Given the description of an element on the screen output the (x, y) to click on. 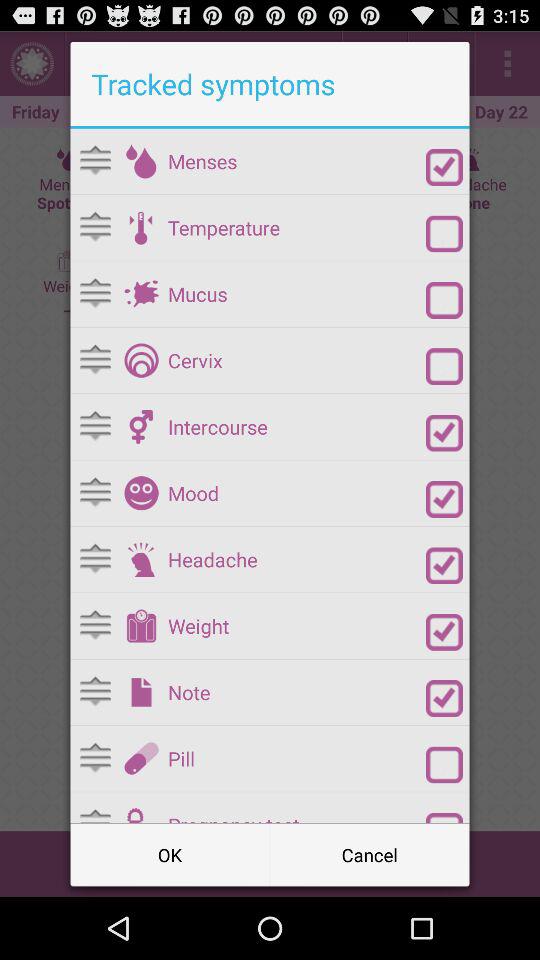
scroll to the weight (296, 625)
